Given the description of an element on the screen output the (x, y) to click on. 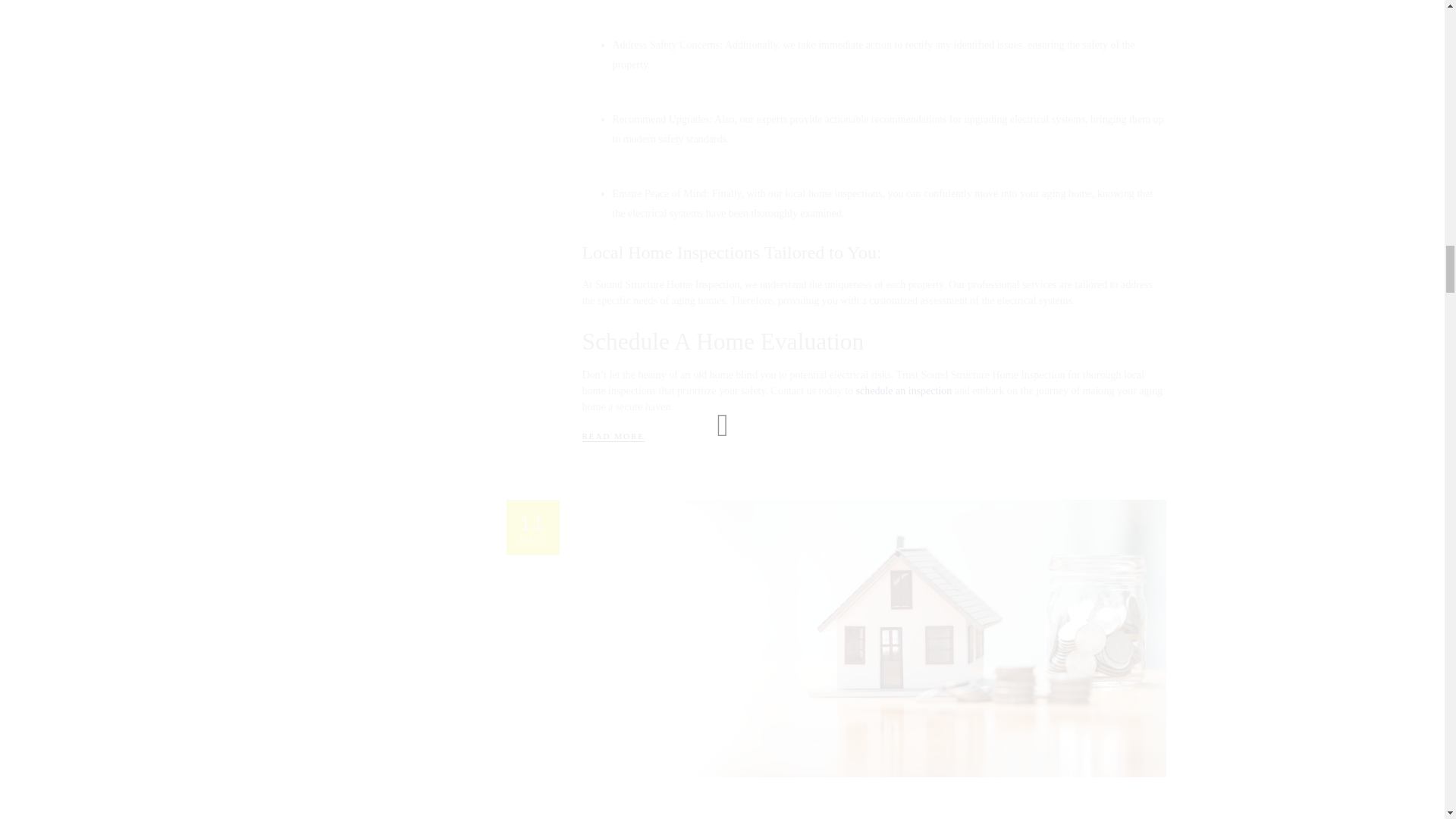
READ MORE (613, 435)
schedule an inspection (904, 390)
